Given the description of an element on the screen output the (x, y) to click on. 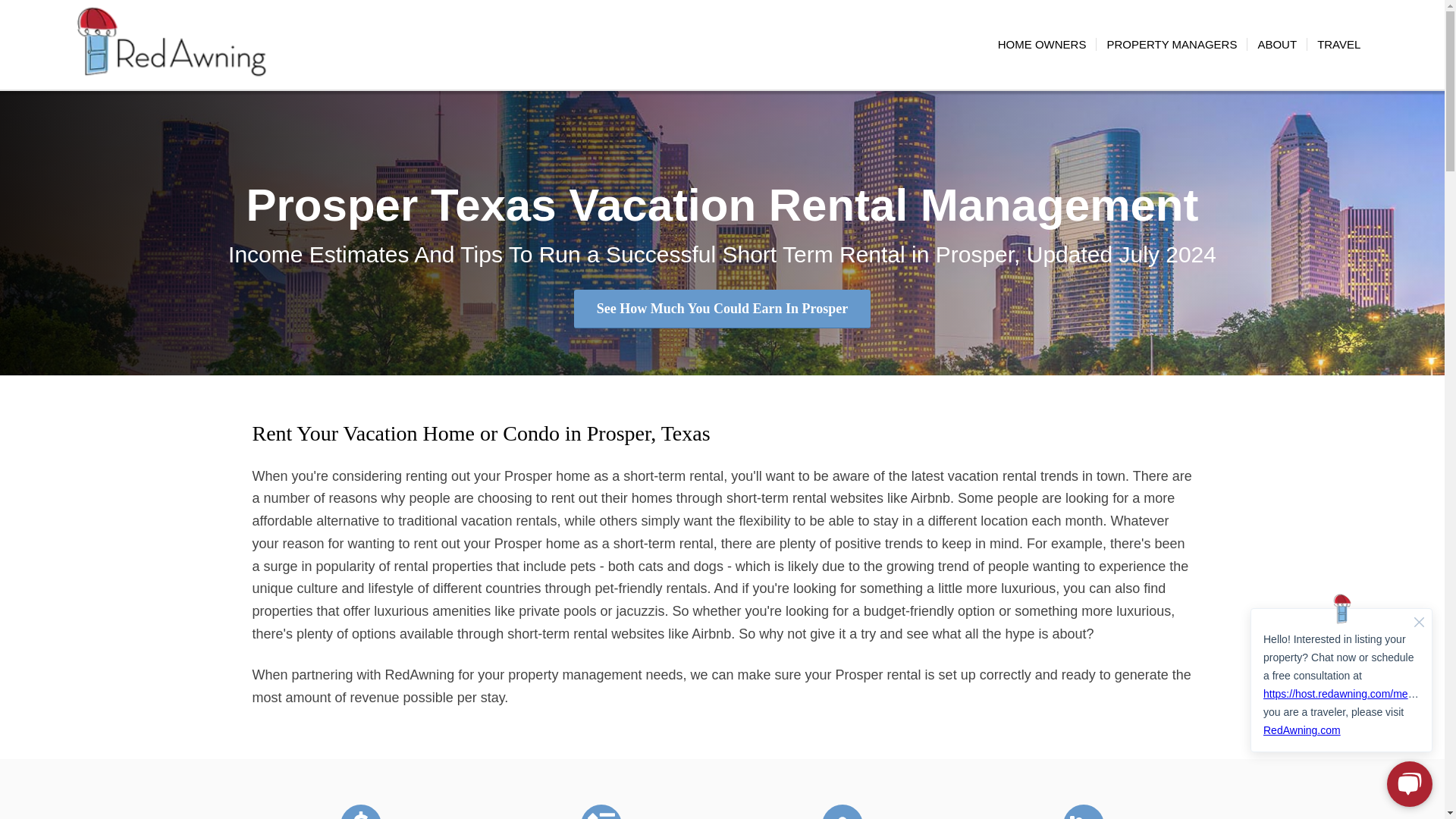
PROPERTY MANAGERS (1171, 44)
RedAwning (171, 44)
HOME OWNERS (1042, 44)
